Given the description of an element on the screen output the (x, y) to click on. 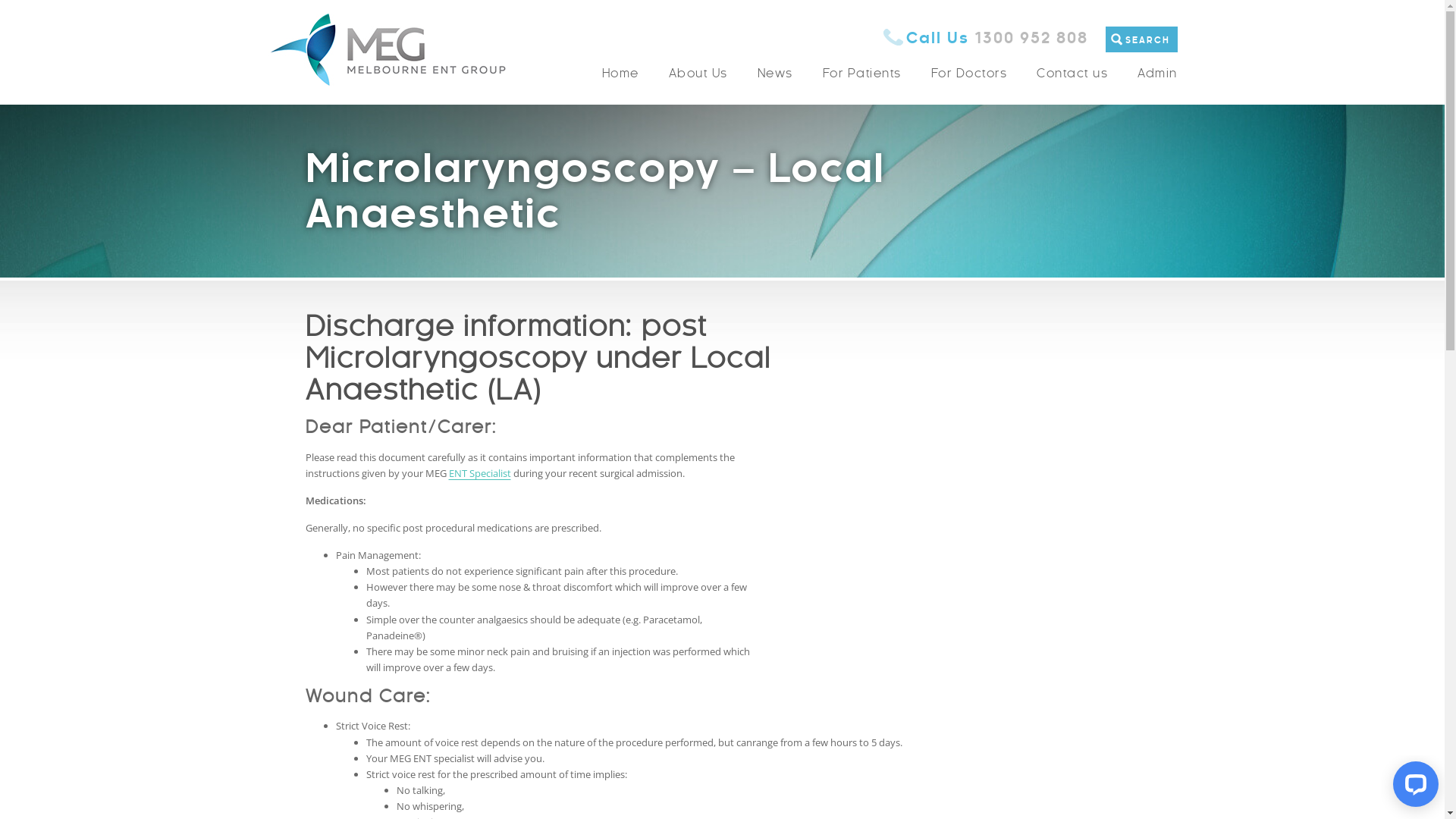
Home Element type: text (620, 73)
About Us Element type: text (698, 73)
For Patients Element type: text (861, 73)
Contact us Element type: text (1071, 73)
ENT Specialist Element type: text (479, 473)
News Element type: text (774, 73)
Admin Element type: text (1150, 73)
Search Element type: text (1176, 52)
For Doctors Element type: text (969, 73)
Call Us 1300 952 808 Element type: text (984, 38)
